Given the description of an element on the screen output the (x, y) to click on. 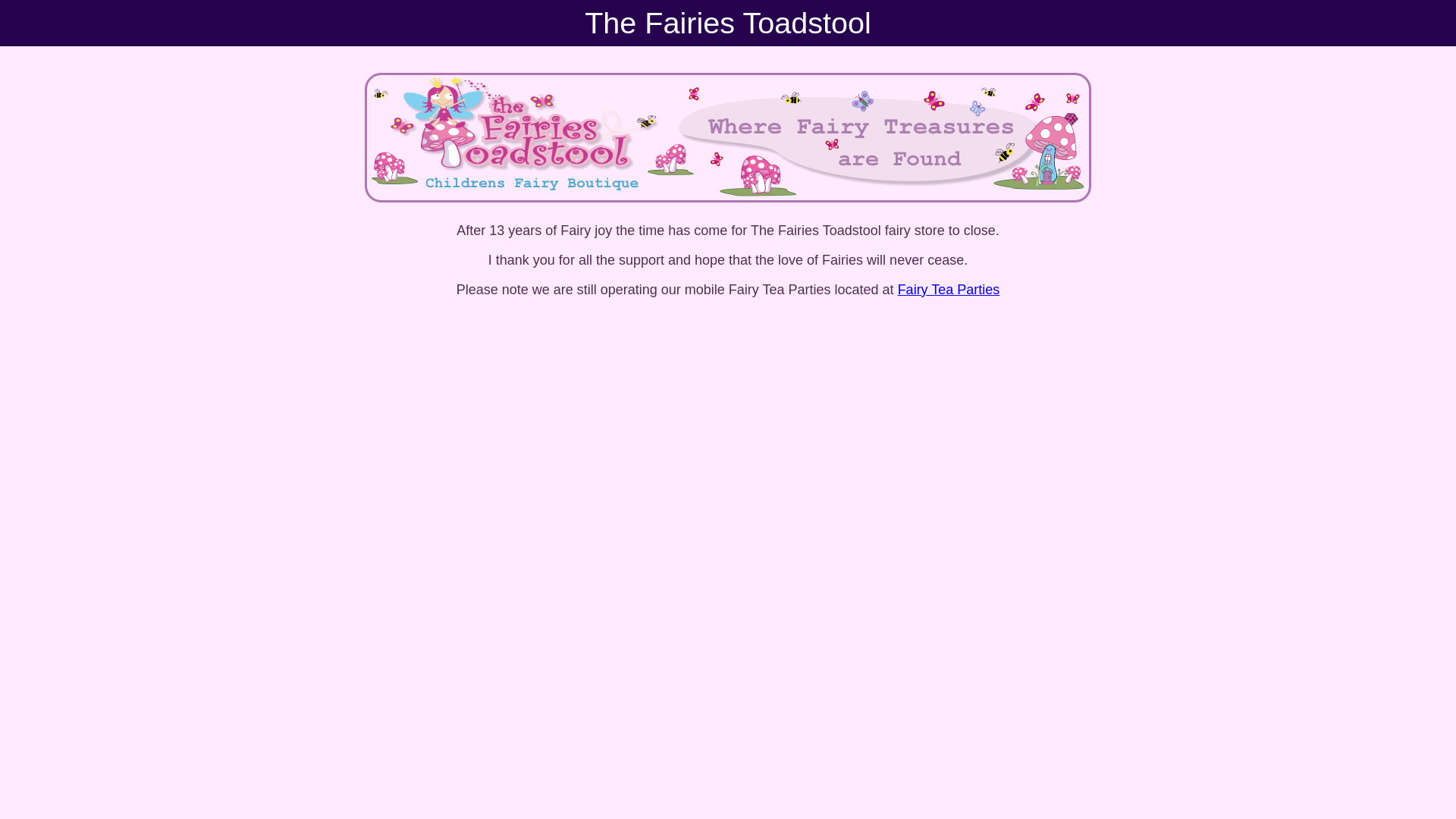
Fairy Tea Parties Element type: text (948, 289)
